Given the description of an element on the screen output the (x, y) to click on. 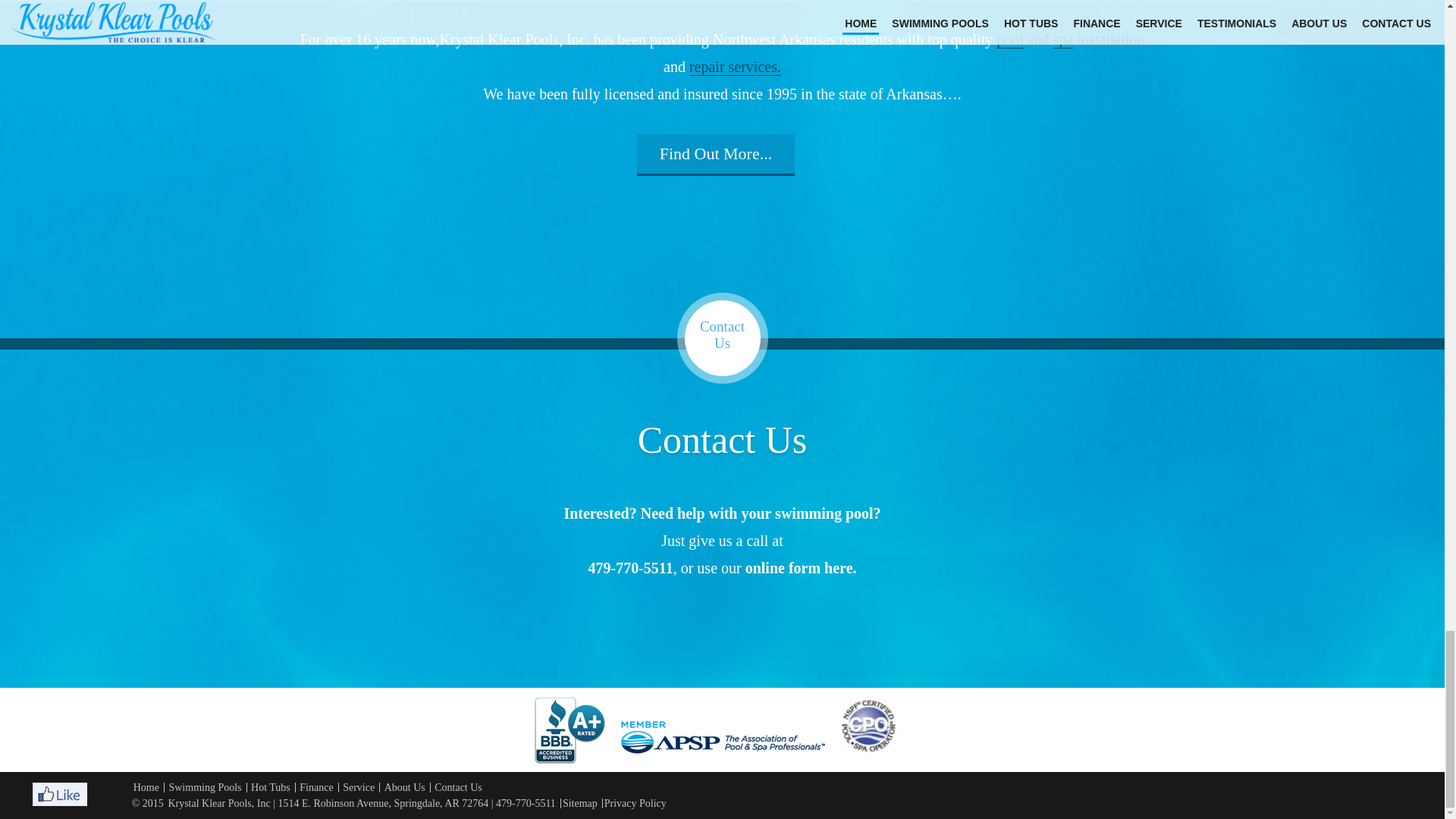
Home (145, 787)
Find Out More... (715, 153)
pool (1009, 39)
About Us (404, 787)
Finance (316, 787)
repair services. (734, 67)
Swimming Pools (204, 787)
spa (1063, 39)
Contact Us (457, 787)
Sitemap (579, 803)
Service (358, 787)
Privacy Policy (635, 803)
Hot Tubs (269, 787)
